Given the description of an element on the screen output the (x, y) to click on. 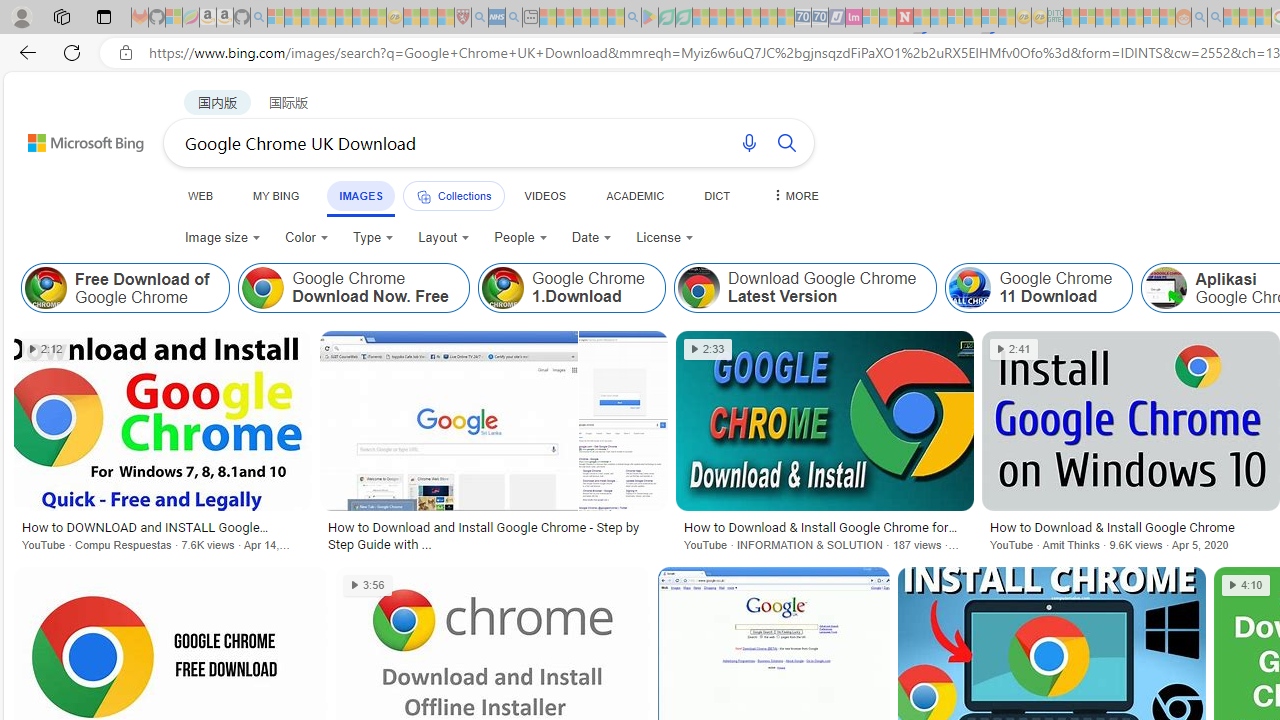
utah sues federal government - Search - Sleeping (513, 17)
Download Google Chrome Latest Version (805, 287)
Google Chrome 1.Download (502, 287)
Image size (222, 237)
Search button (786, 142)
Color (305, 237)
